Given the description of an element on the screen output the (x, y) to click on. 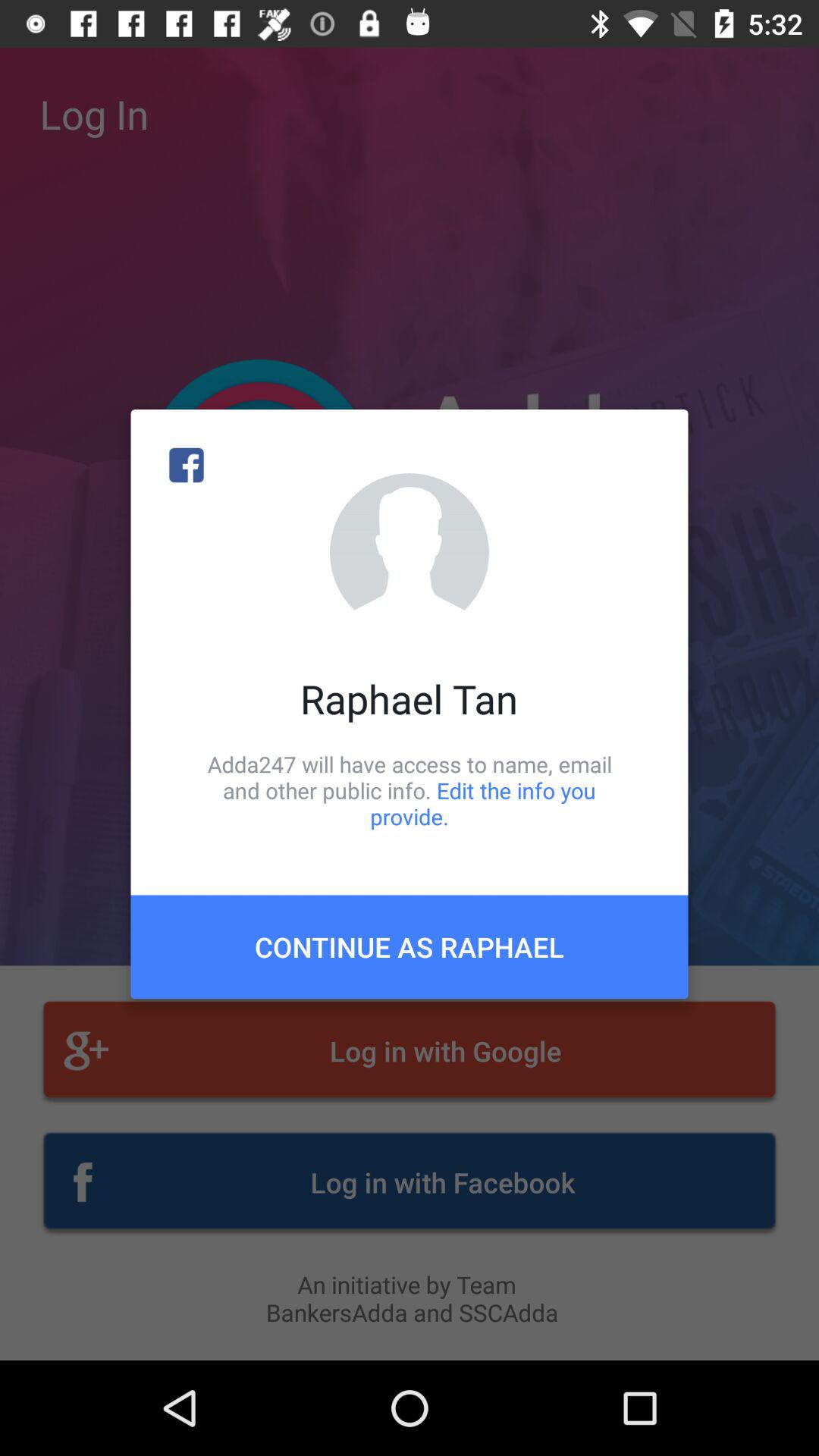
open continue as raphael (409, 946)
